Given the description of an element on the screen output the (x, y) to click on. 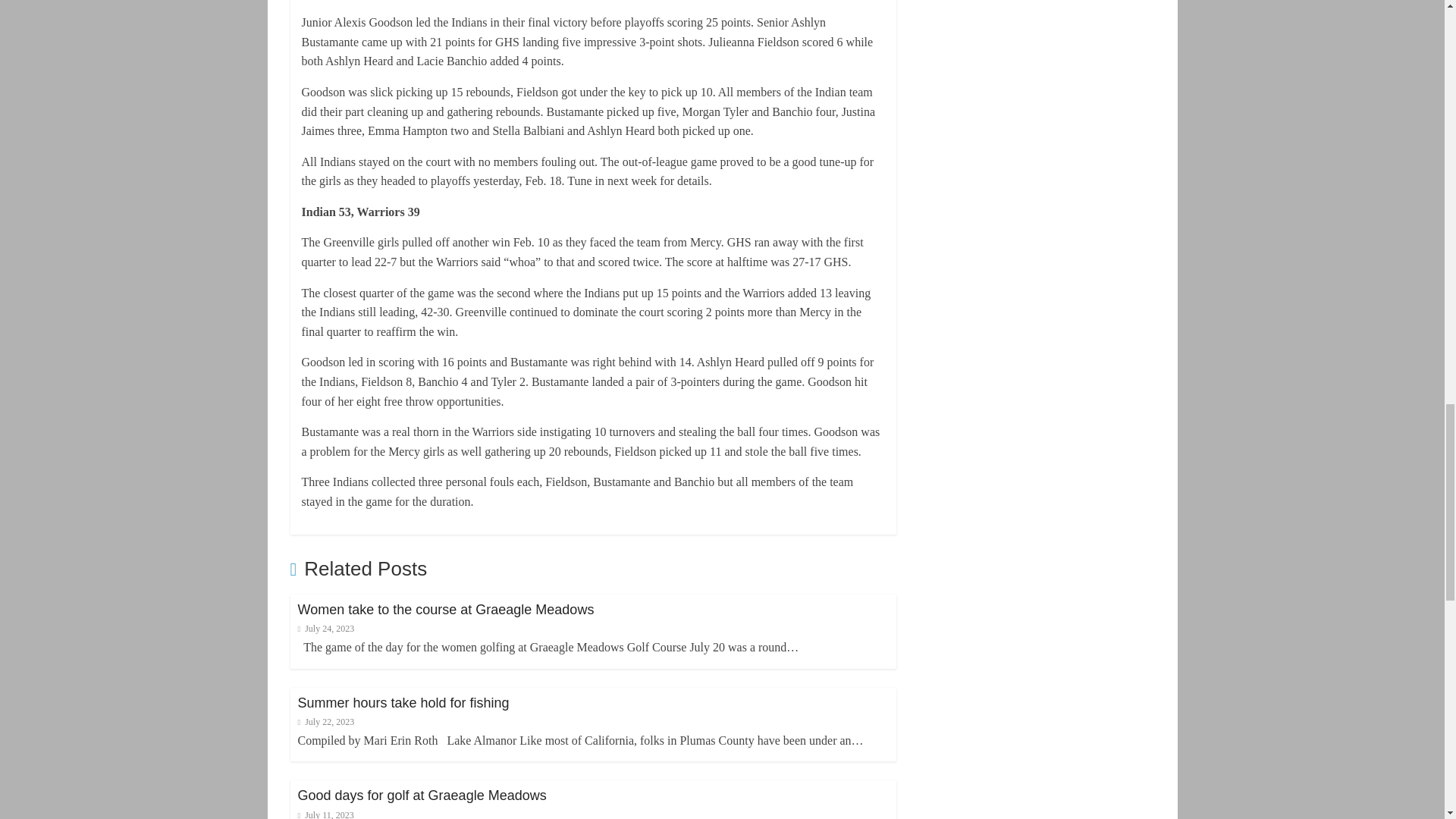
8:48 am (325, 628)
Women take to the course at Graeagle Meadows (445, 609)
